Given the description of an element on the screen output the (x, y) to click on. 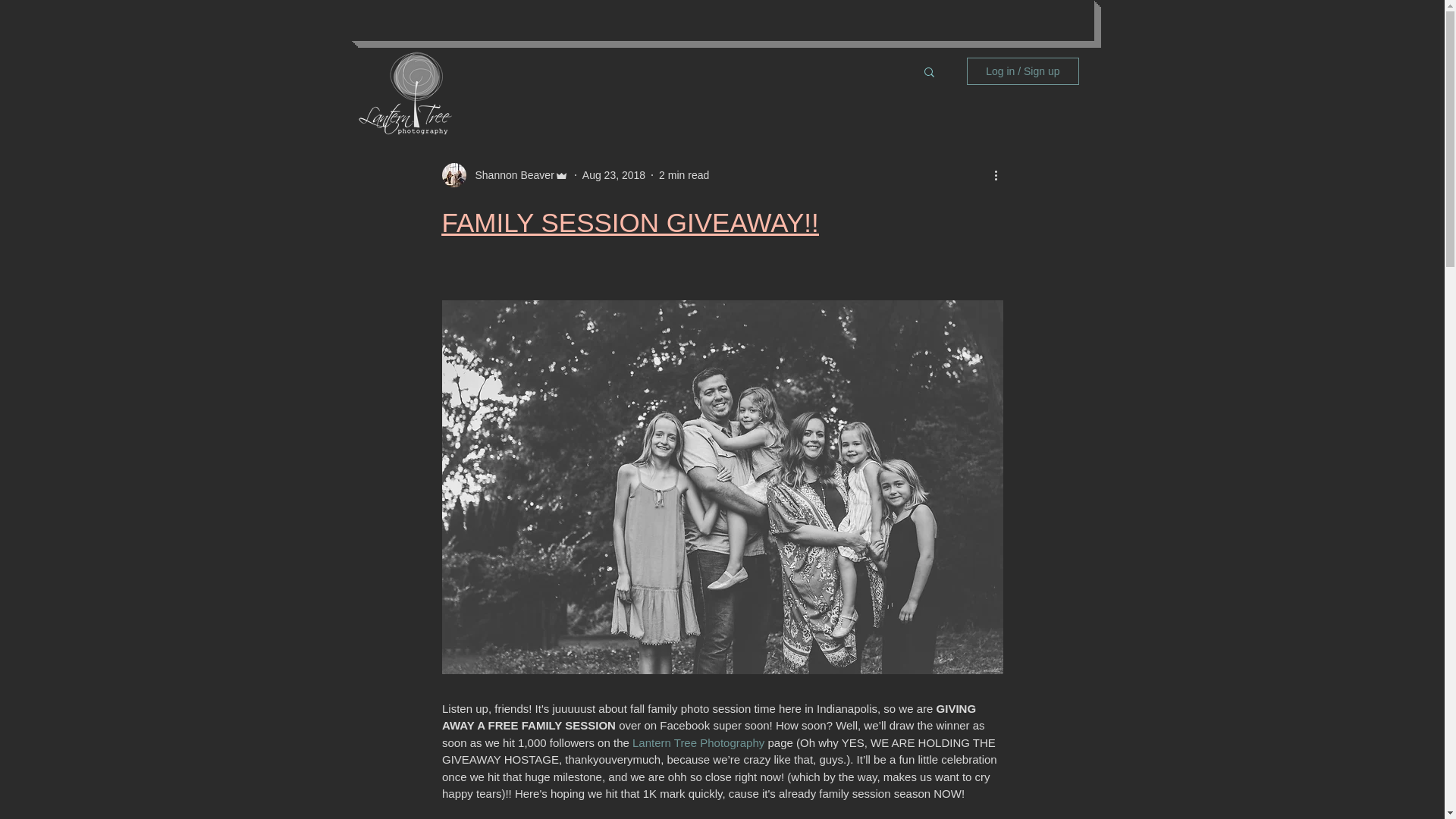
2 min read (684, 174)
Lantern Tree Photography (697, 742)
Shannon Beaver (509, 174)
Aug 23, 2018 (613, 174)
